Given the description of an element on the screen output the (x, y) to click on. 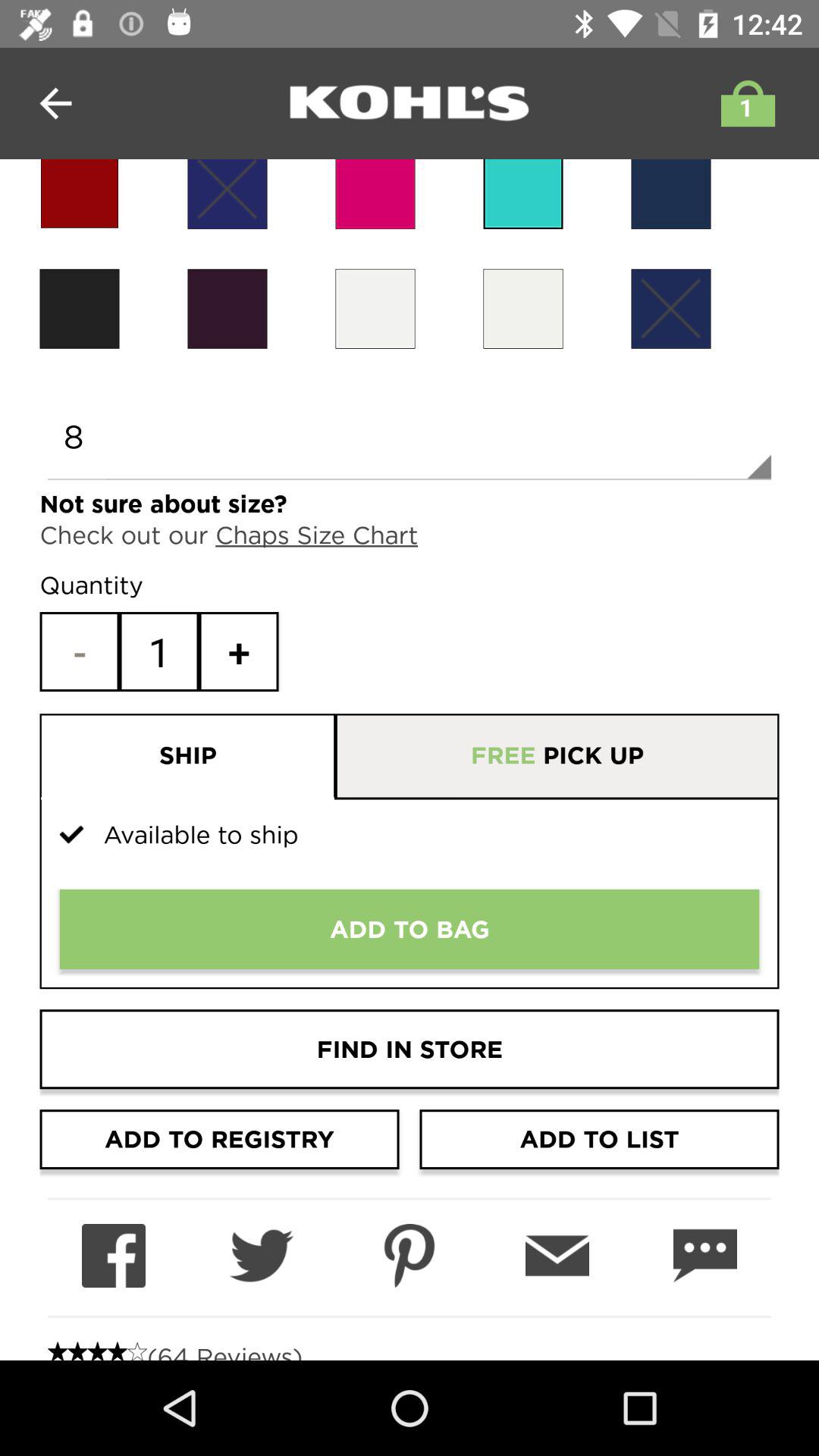
talvez seja somente um problema (523, 194)
